Given the description of an element on the screen output the (x, y) to click on. 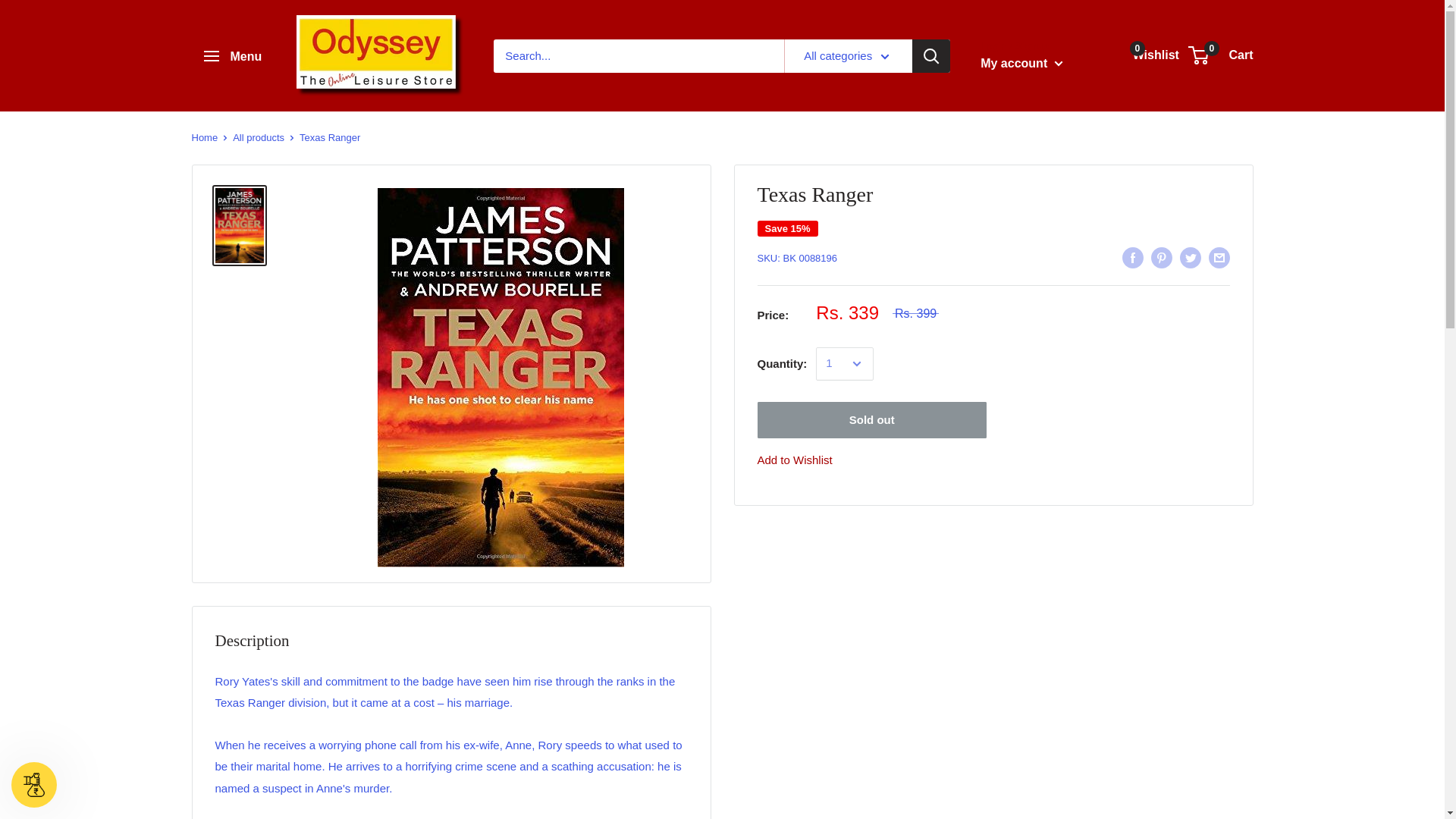
Home (203, 137)
All products (1147, 55)
Menu (257, 137)
My account (231, 55)
